Given the description of an element on the screen output the (x, y) to click on. 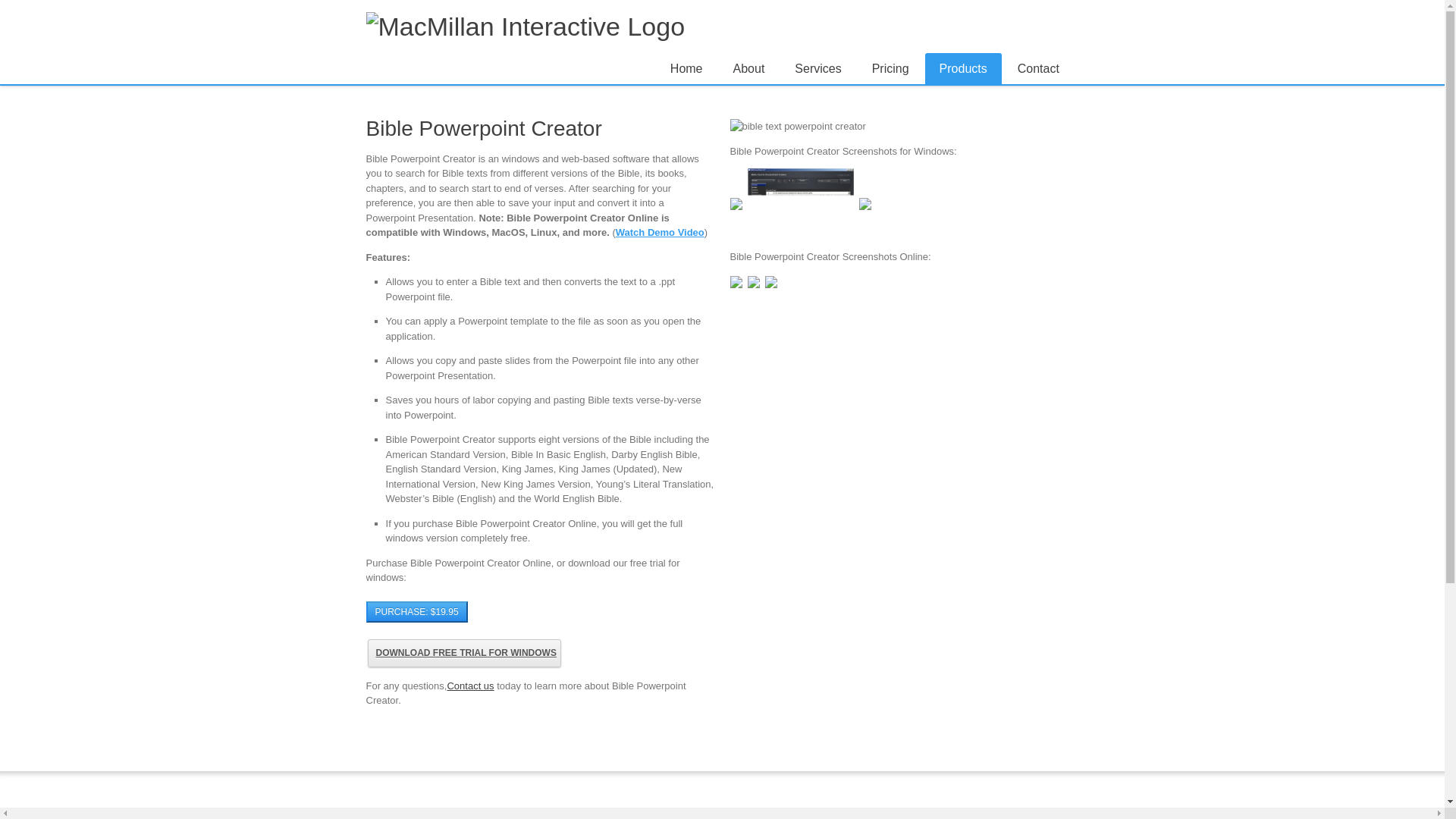
Watch Demo Video (659, 232)
Contact (1038, 68)
Home (686, 68)
Pricing (890, 68)
Products (962, 68)
Contact us (469, 685)
About (748, 68)
DOWNLOAD FREE TRIAL FOR WINDOWS (463, 653)
Services (818, 68)
